Given the description of an element on the screen output the (x, y) to click on. 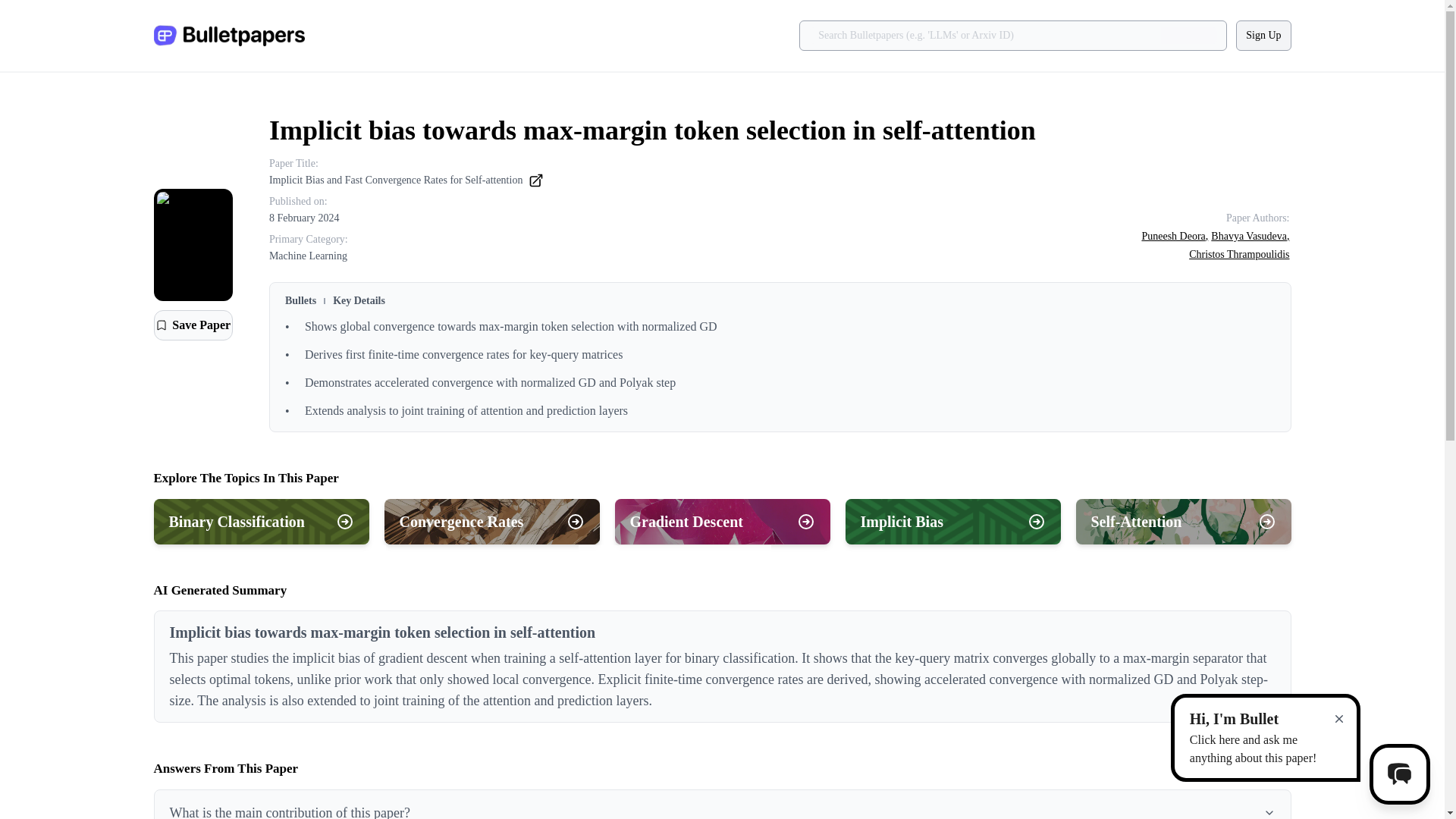
Sign Up (1263, 35)
Implicit Bias and Fast Convergence Rates for Self-attention (406, 180)
Self-Attention (1182, 521)
Save Paper (191, 325)
Binary Classification (260, 521)
Implicit Bias (951, 521)
Convergence Rates (491, 521)
Gradient Descent (721, 521)
What is the main contribution of this paper? (722, 804)
